Given the description of an element on the screen output the (x, y) to click on. 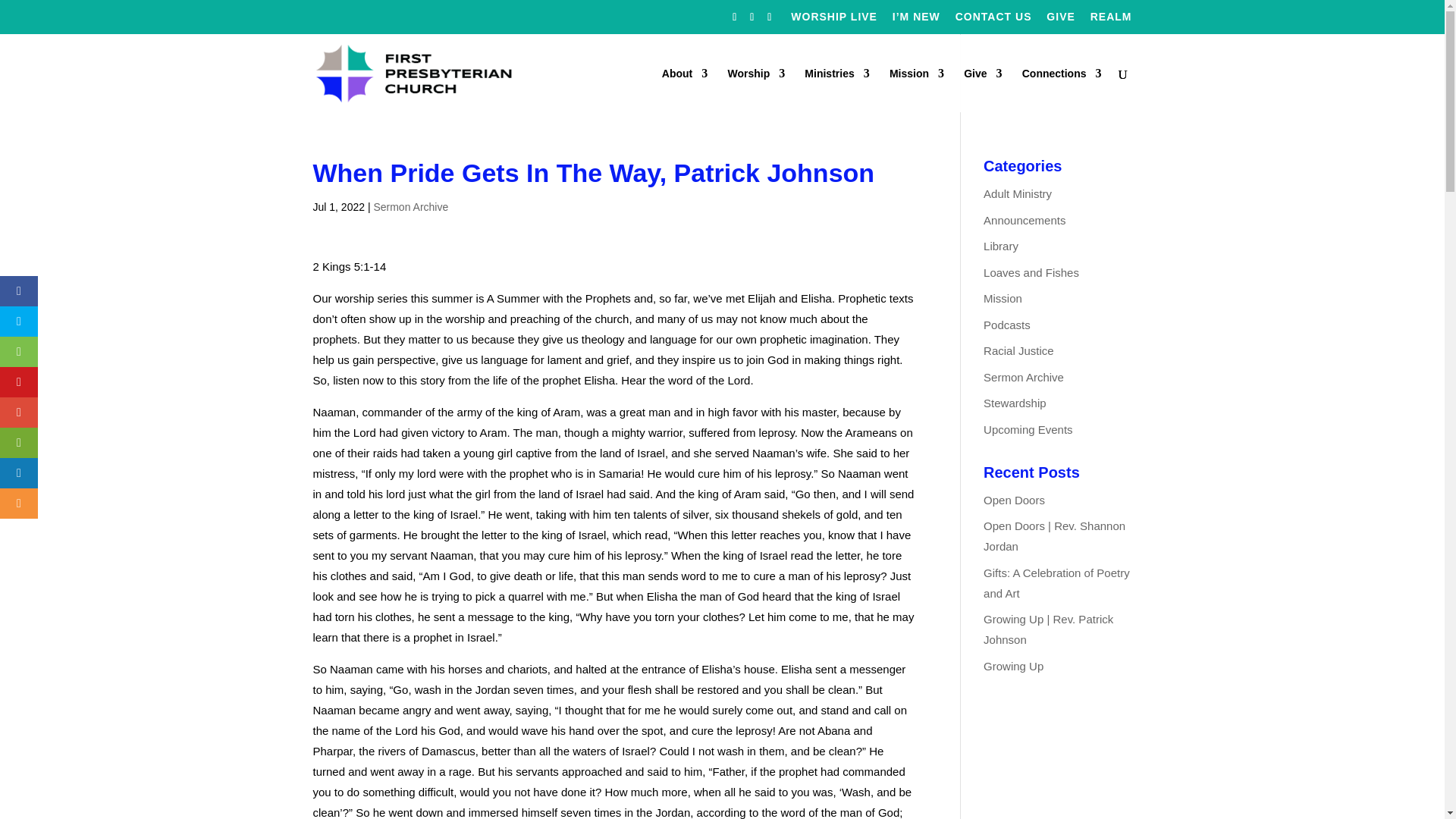
Ministries (837, 89)
REALM (1111, 19)
Worship (755, 89)
GIVE (1060, 19)
CONTACT US (993, 19)
About (684, 89)
WORSHIP LIVE (833, 19)
Mission (916, 89)
